Given the description of an element on the screen output the (x, y) to click on. 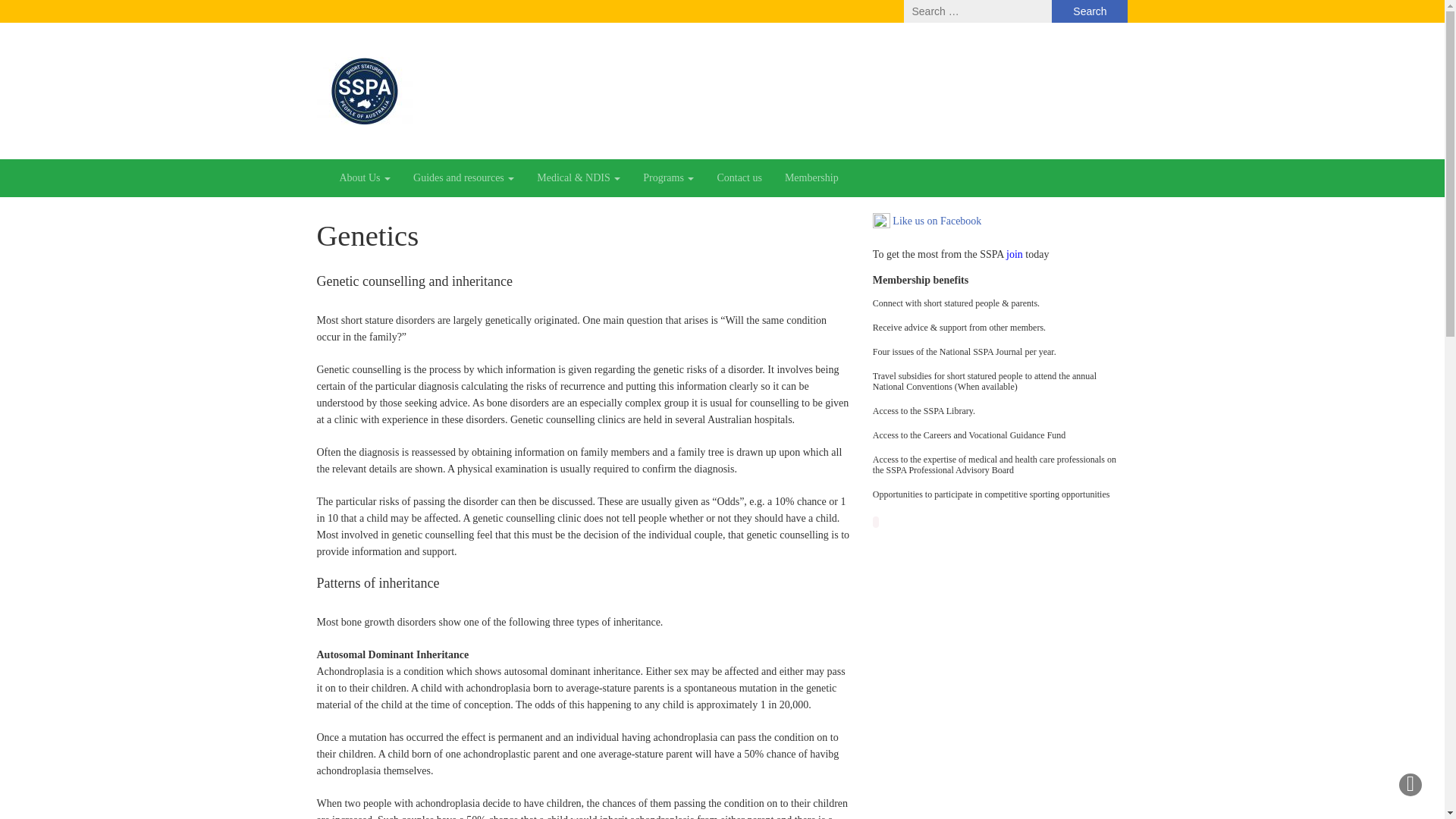
About Us (364, 177)
Guides and resources (463, 177)
Search (1088, 11)
Guides and resources (463, 177)
Search (1088, 11)
Contact us (738, 177)
join (1014, 254)
 Like us on Facebook (926, 220)
About Us (364, 177)
Membership (811, 177)
